Given the description of an element on the screen output the (x, y) to click on. 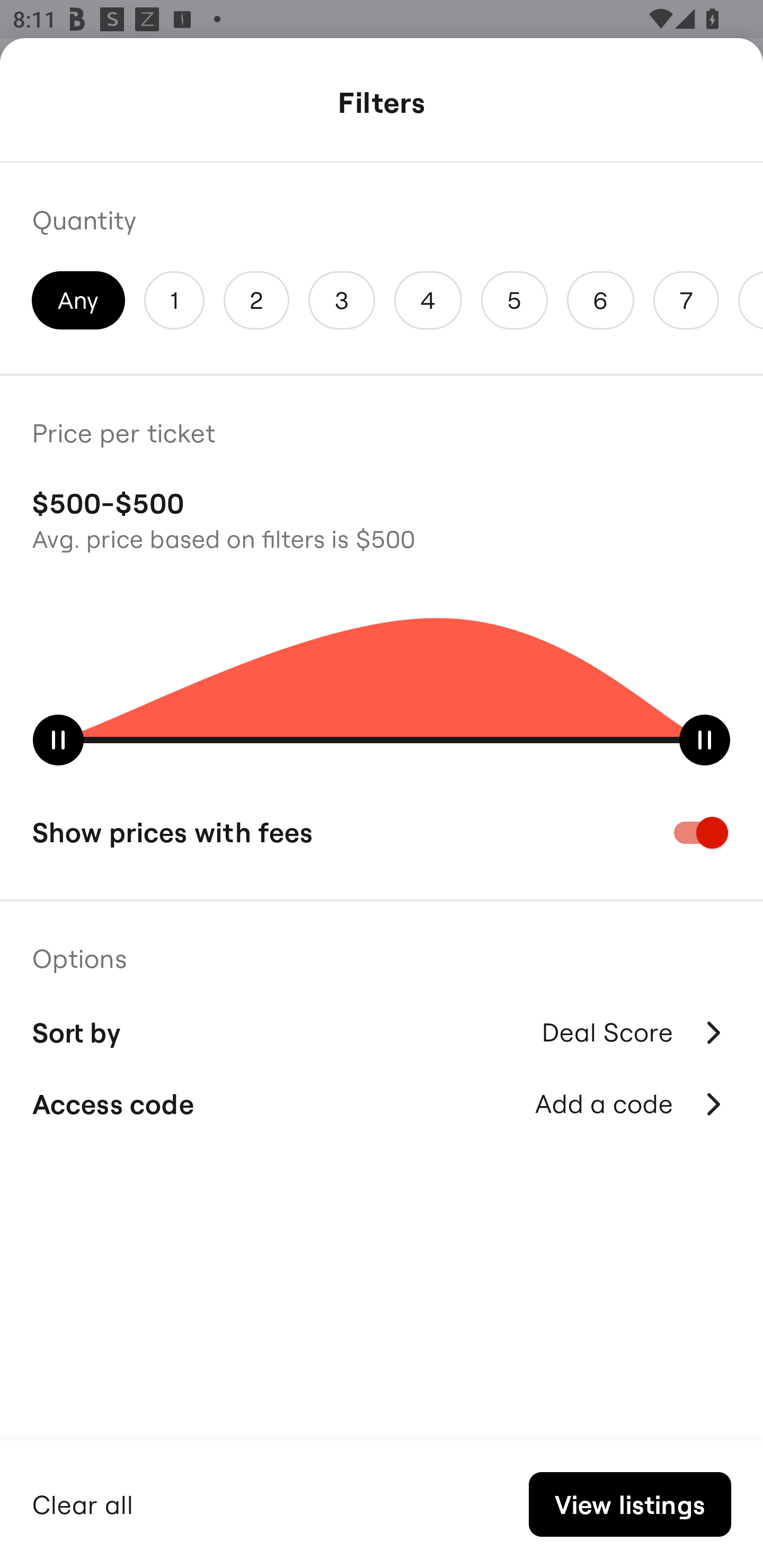
Back Hadestown Thu, Mar 7, 7 PM Info (381, 104)
Any (78, 300)
1 (173, 300)
2 (256, 300)
3 (341, 300)
4 (427, 300)
5 (514, 300)
6 (601, 300)
7 (685, 300)
$500-$500 Avg. price based on filters is $500 (381, 518)
Show prices with fees (381, 832)
Sort by Deal Score (381, 1030)
Sort by deal (633, 1091)
Access code Add a code (381, 1104)
Clear all (83, 1502)
View listings (629, 1504)
